Given the description of an element on the screen output the (x, y) to click on. 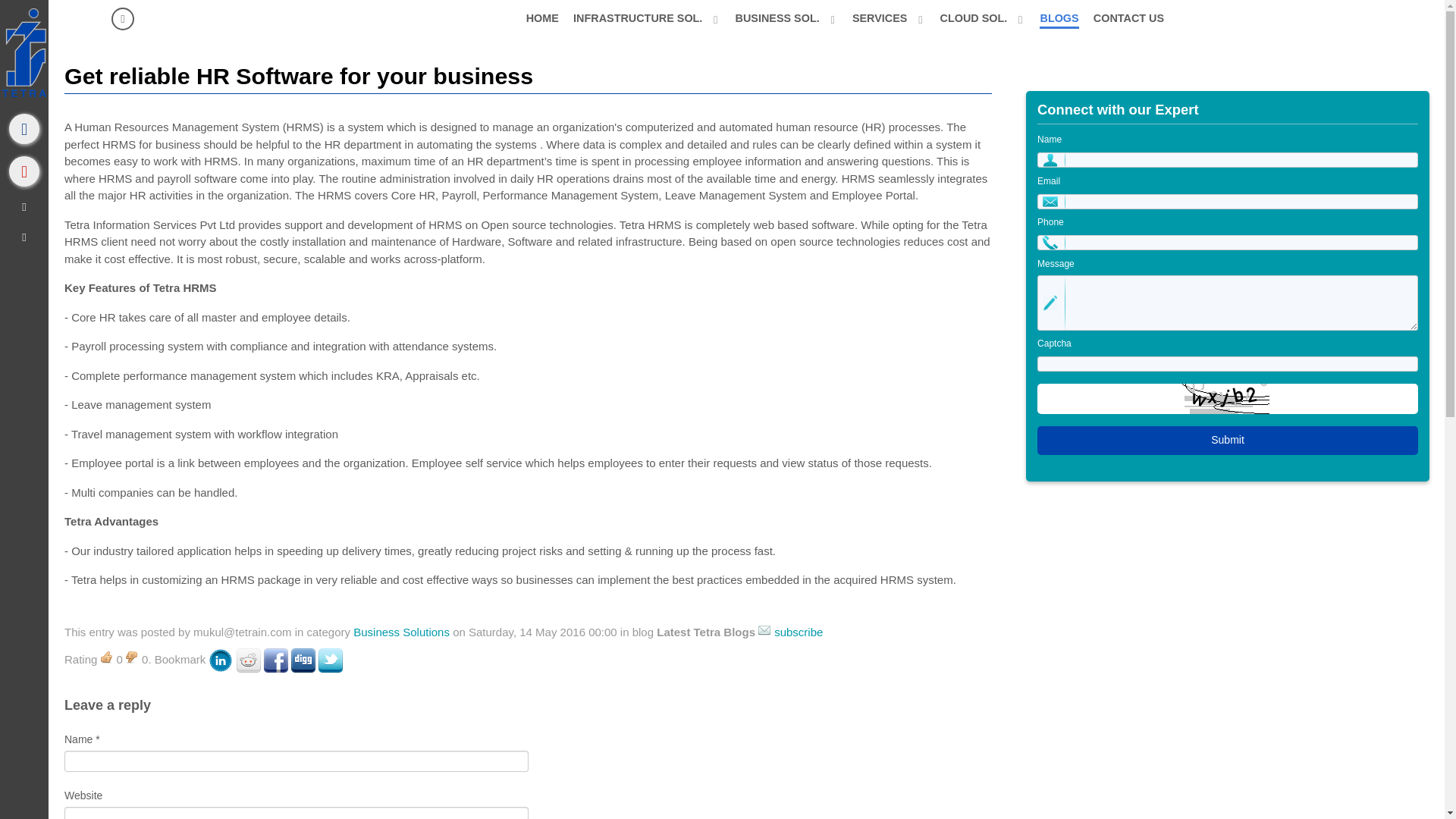
HOME (541, 18)
SERVICES (888, 17)
Submit (1227, 440)
HOME (541, 18)
BUSINESS SOL. (786, 17)
INFRASTRUCTURE SOL. (646, 17)
INFRASTRUCTURE SOL. (646, 17)
BUSINESS SOL. (786, 17)
